Given the description of an element on the screen output the (x, y) to click on. 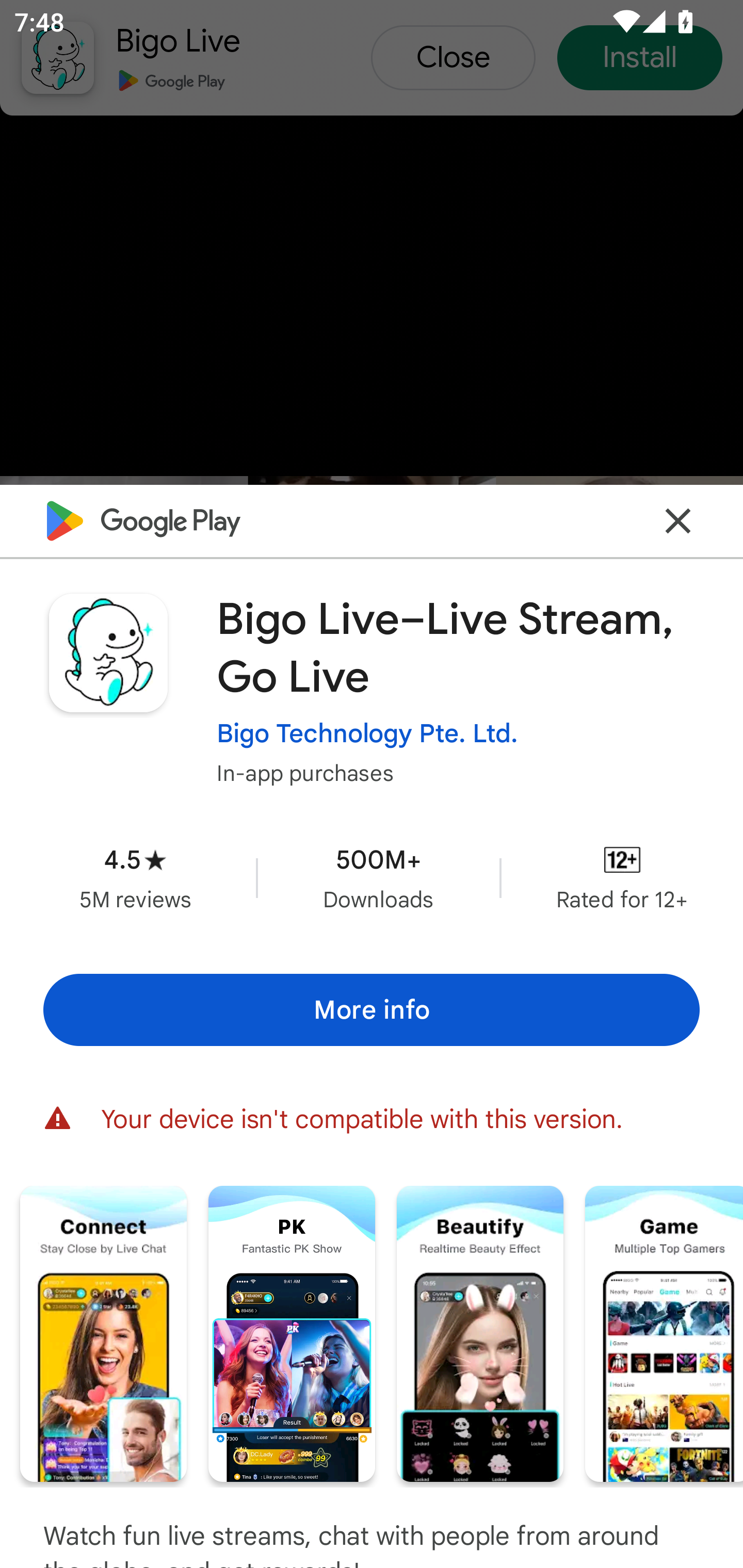
Close (677, 520)
Bigo Technology Pte. Ltd. (367, 732)
More info (371, 1009)
Screenshot "4" of "8" (103, 1333)
Screenshot "5" of "8" (291, 1333)
Screenshot "6" of "8" (479, 1333)
Screenshot "7" of "8" (664, 1333)
